Given the description of an element on the screen output the (x, y) to click on. 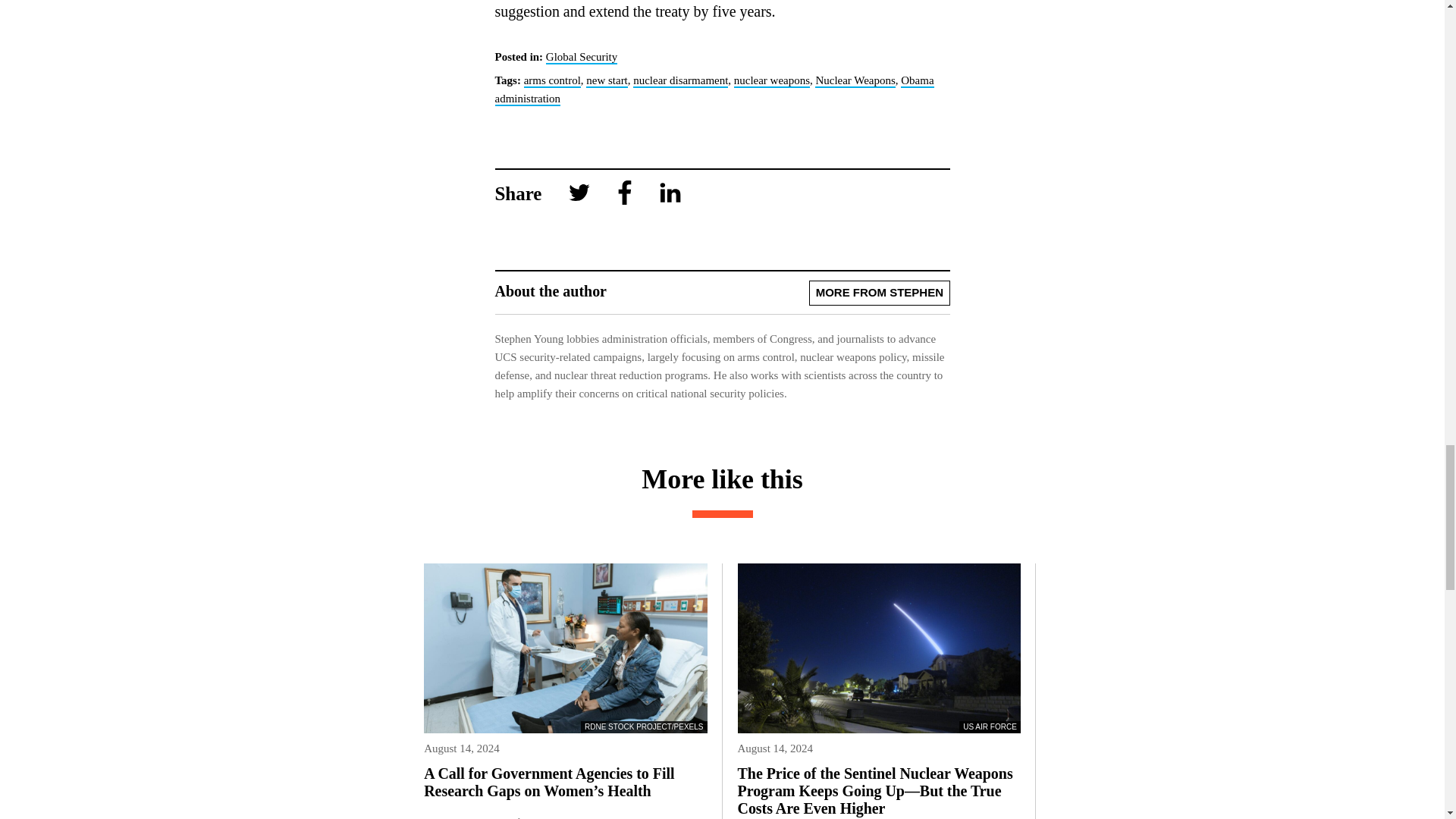
nuclear weapons (771, 80)
MORE FROM STEPHEN (879, 293)
new start (606, 80)
Global Security (581, 57)
arms control (552, 80)
US AIR FORCE (878, 648)
Obama administration (714, 90)
Nuclear Weapons (855, 80)
nuclear disarmament (680, 80)
